Given the description of an element on the screen output the (x, y) to click on. 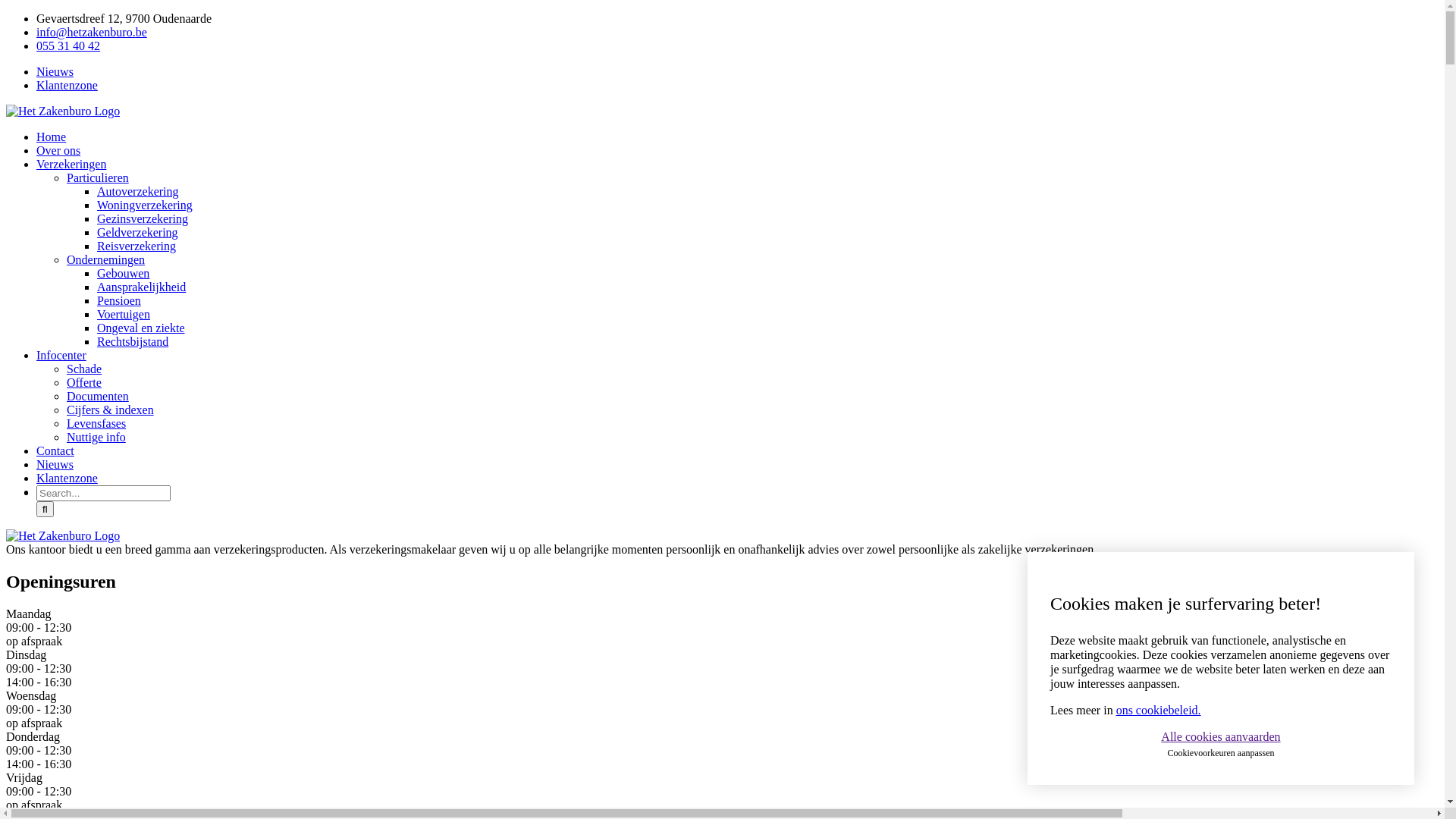
Nieuws Element type: text (54, 464)
Autoverzekering Element type: text (137, 191)
Aansprakelijkheid Element type: text (141, 286)
Geldverzekering Element type: text (137, 231)
Particulieren Element type: text (97, 177)
Voertuigen Element type: text (123, 313)
Gezinsverzekering Element type: text (142, 218)
Home Element type: text (50, 136)
055 31 40 42 Element type: text (68, 45)
Klantenzone Element type: text (66, 477)
Ongeval en ziekte Element type: text (141, 327)
Documenten Element type: text (97, 395)
ons cookiebeleid. Element type: text (1158, 709)
Skip to content Element type: text (5, 11)
info@hetzakenburo.be Element type: text (91, 31)
Ondernemingen Element type: text (105, 259)
Rechtsbijstand Element type: text (132, 341)
Gebouwen Element type: text (123, 272)
Nieuws Element type: text (54, 71)
Contact Element type: text (55, 450)
Offerte Element type: text (83, 382)
Infocenter Element type: text (61, 354)
Schade Element type: text (83, 368)
Verzekeringen Element type: text (71, 163)
Reisverzekering Element type: text (136, 245)
Levensfases Element type: text (95, 423)
Alle cookies aanvaarden Element type: text (1220, 736)
Cookievoorkeuren aanpassen Element type: text (1220, 752)
Cijfers & indexen Element type: text (109, 409)
Woningverzekering Element type: text (144, 204)
Pensioen Element type: text (119, 300)
Nuttige info Element type: text (95, 436)
Klantenzone Element type: text (66, 84)
Over ons Element type: text (58, 150)
